Given the description of an element on the screen output the (x, y) to click on. 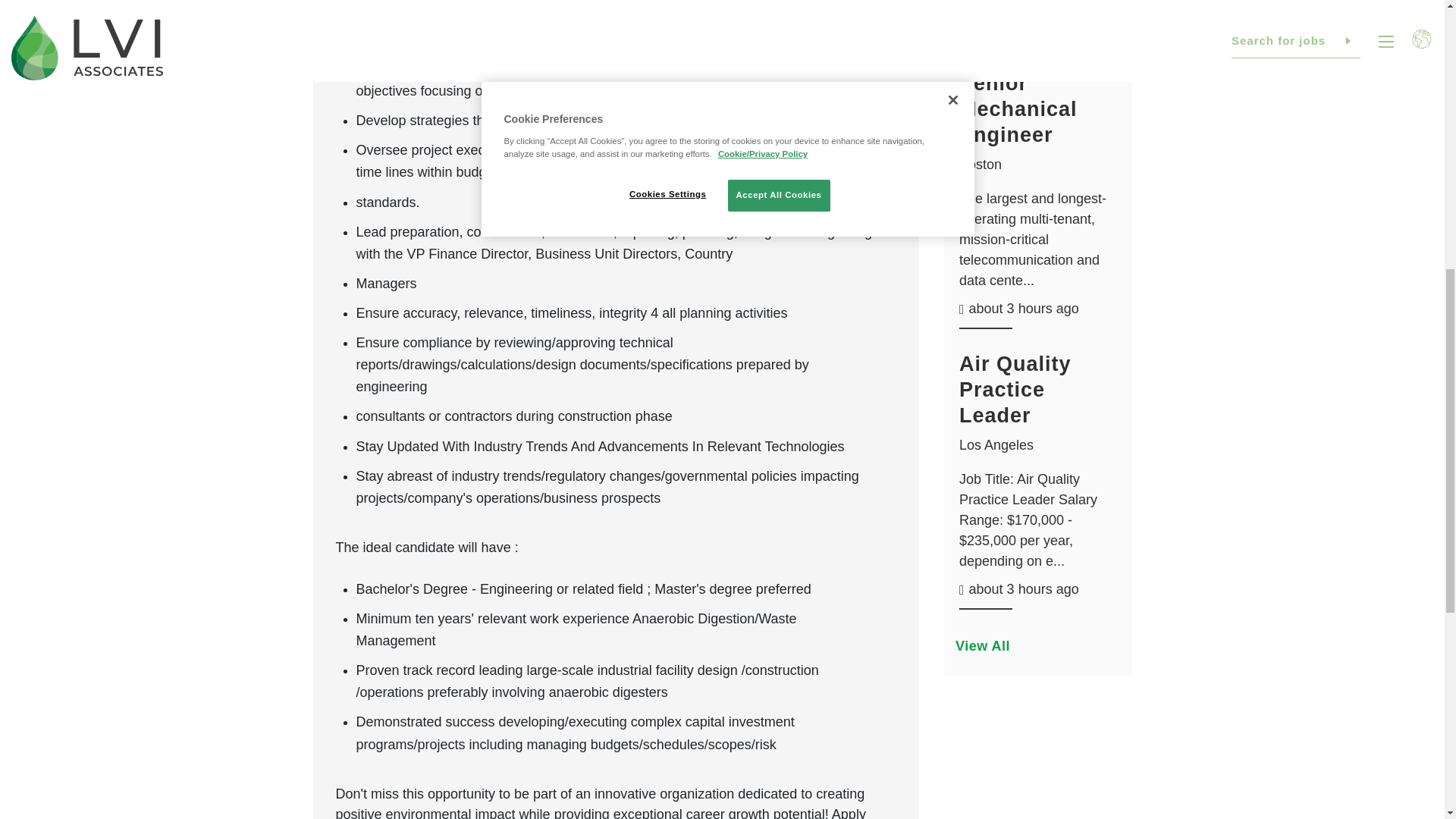
LinkedIn (1256, 100)
YouTube (1359, 100)
Instagram (1324, 100)
Facebook (1222, 100)
WeChat (1393, 100)
Twitter (1291, 100)
